Given the description of an element on the screen output the (x, y) to click on. 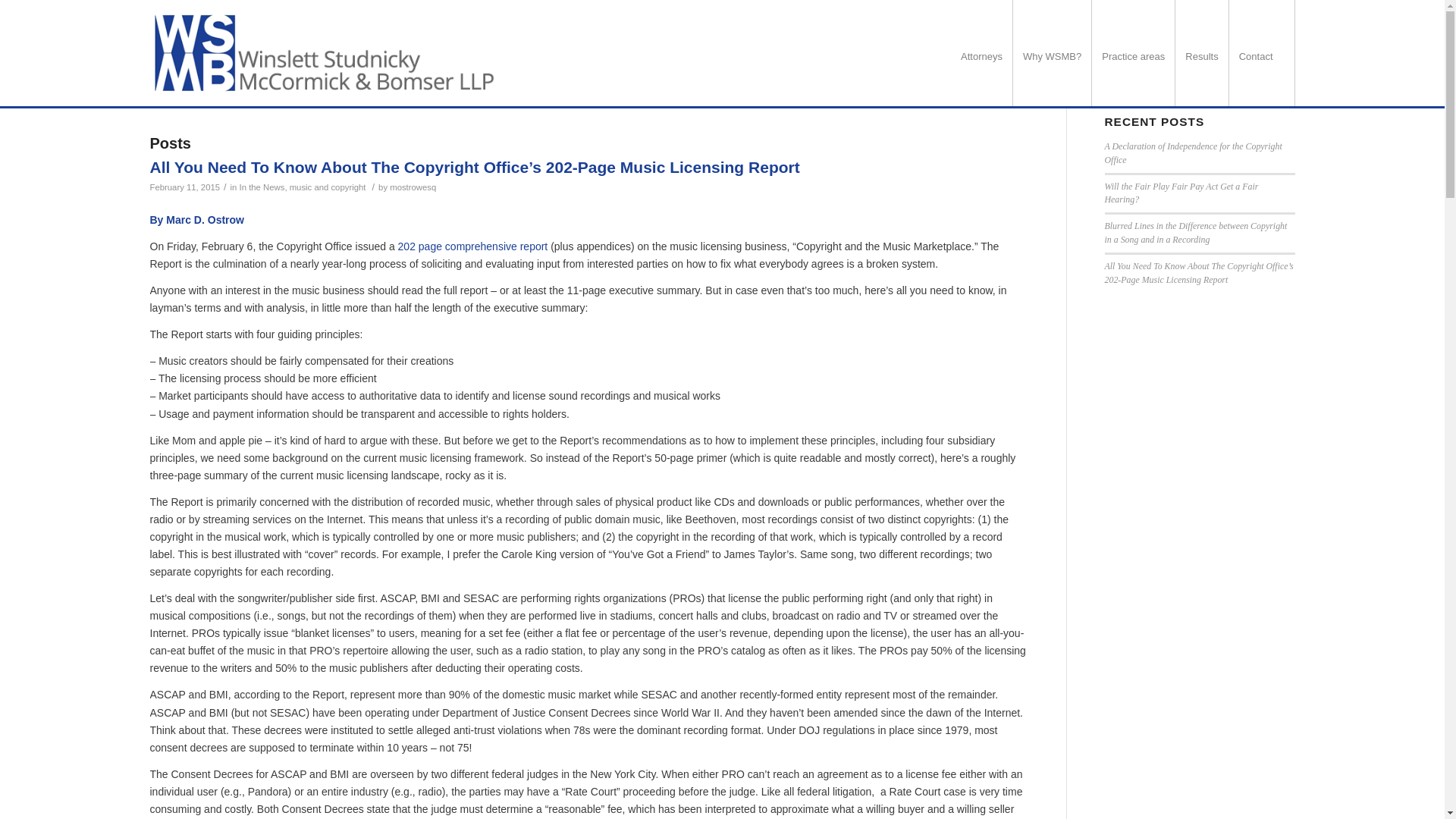
Posts by mostrowesq (412, 186)
202 page comprehensive report (472, 246)
A Declaration of Independence for the Copyright Office (1192, 152)
Will the Fair Play Fair Pay Act Get a Fair Hearing? (1180, 192)
mostrowesq (412, 186)
music and copyright (327, 186)
In the News (262, 186)
Copyright Office Report (472, 246)
